Given the description of an element on the screen output the (x, y) to click on. 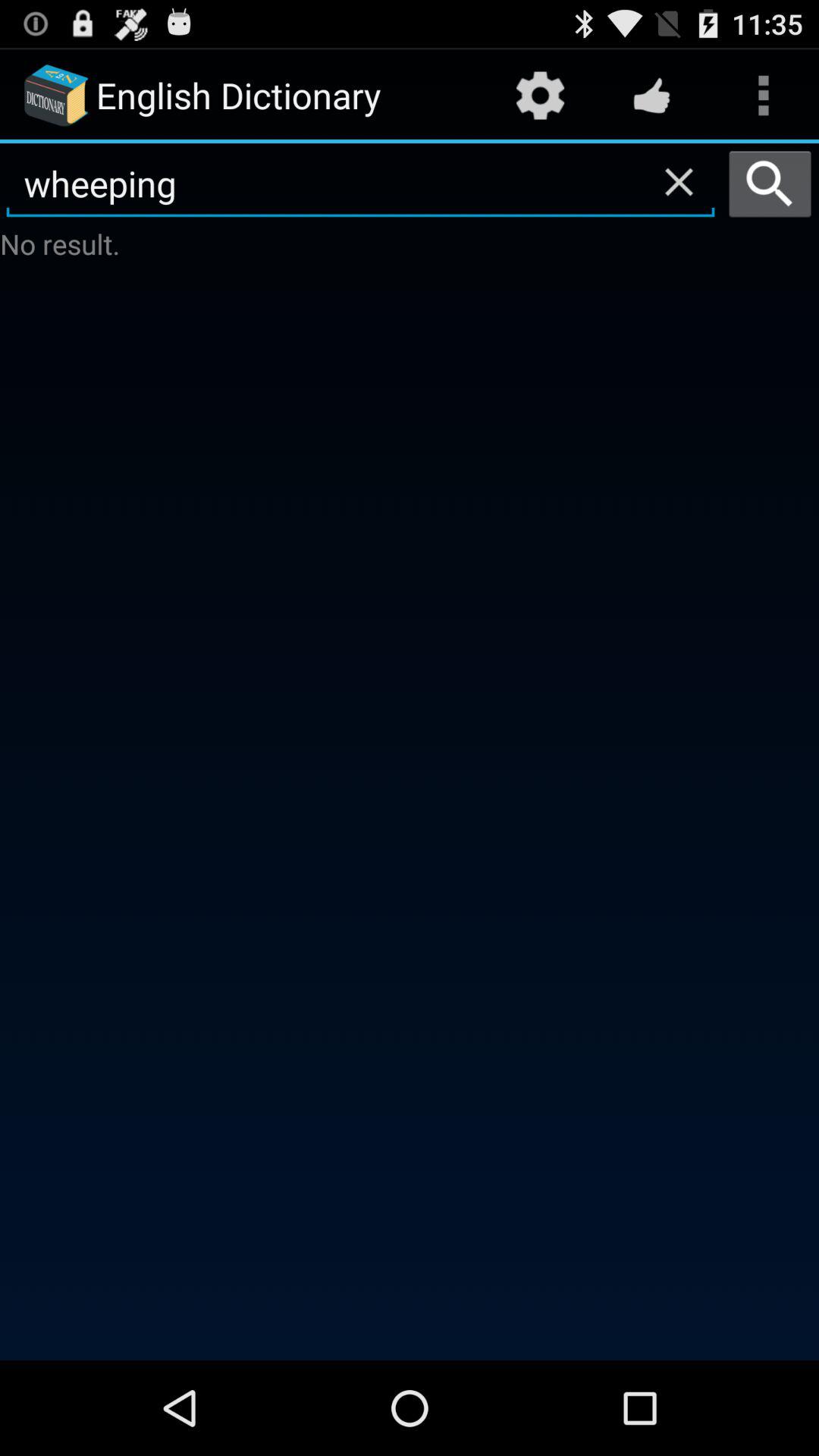
turn on item next to wheeping icon (770, 184)
